Given the description of an element on the screen output the (x, y) to click on. 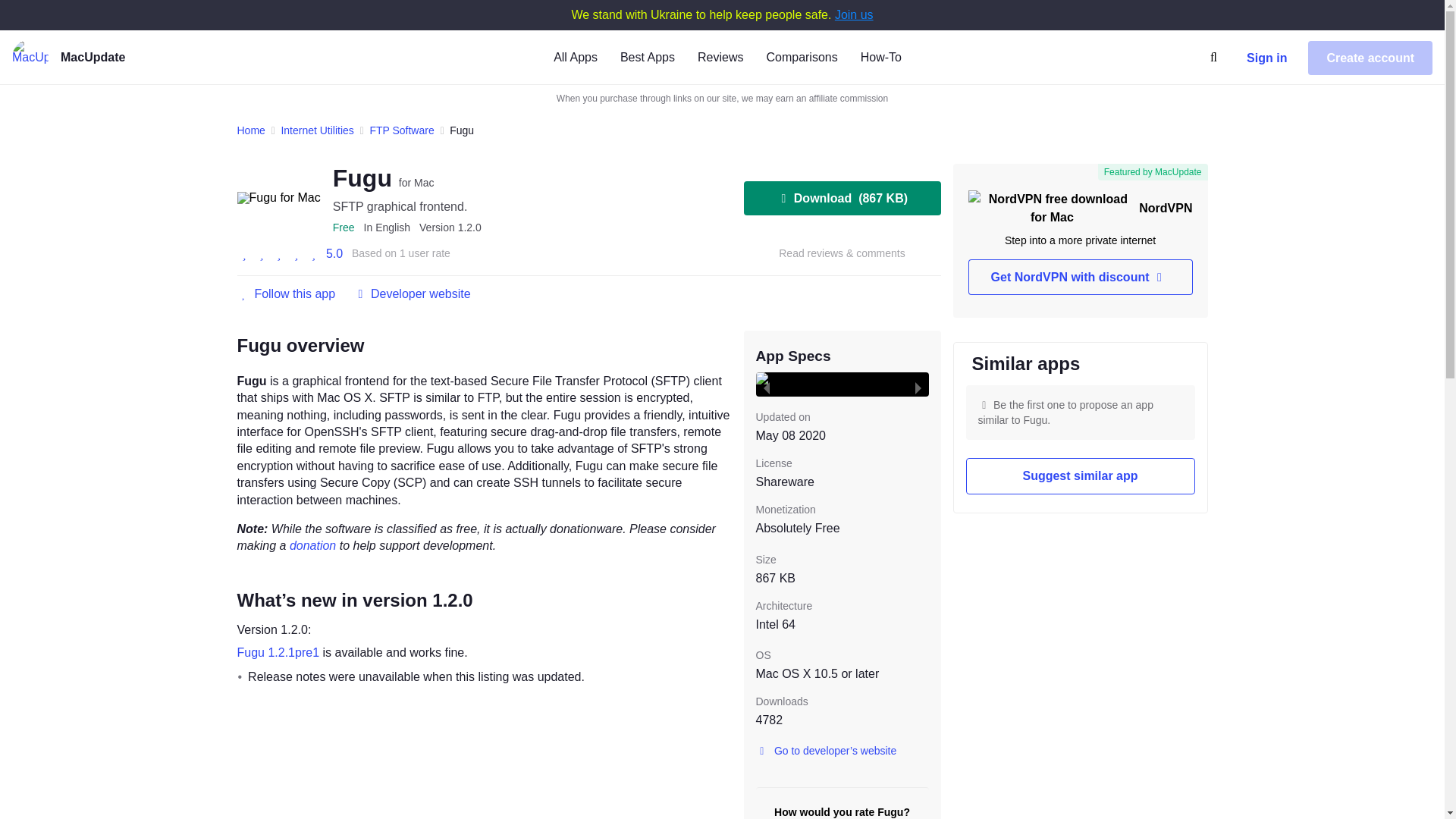
All Apps (574, 56)
Join us (853, 14)
1.2.0 (450, 226)
MacUpdate (116, 57)
